Given the description of an element on the screen output the (x, y) to click on. 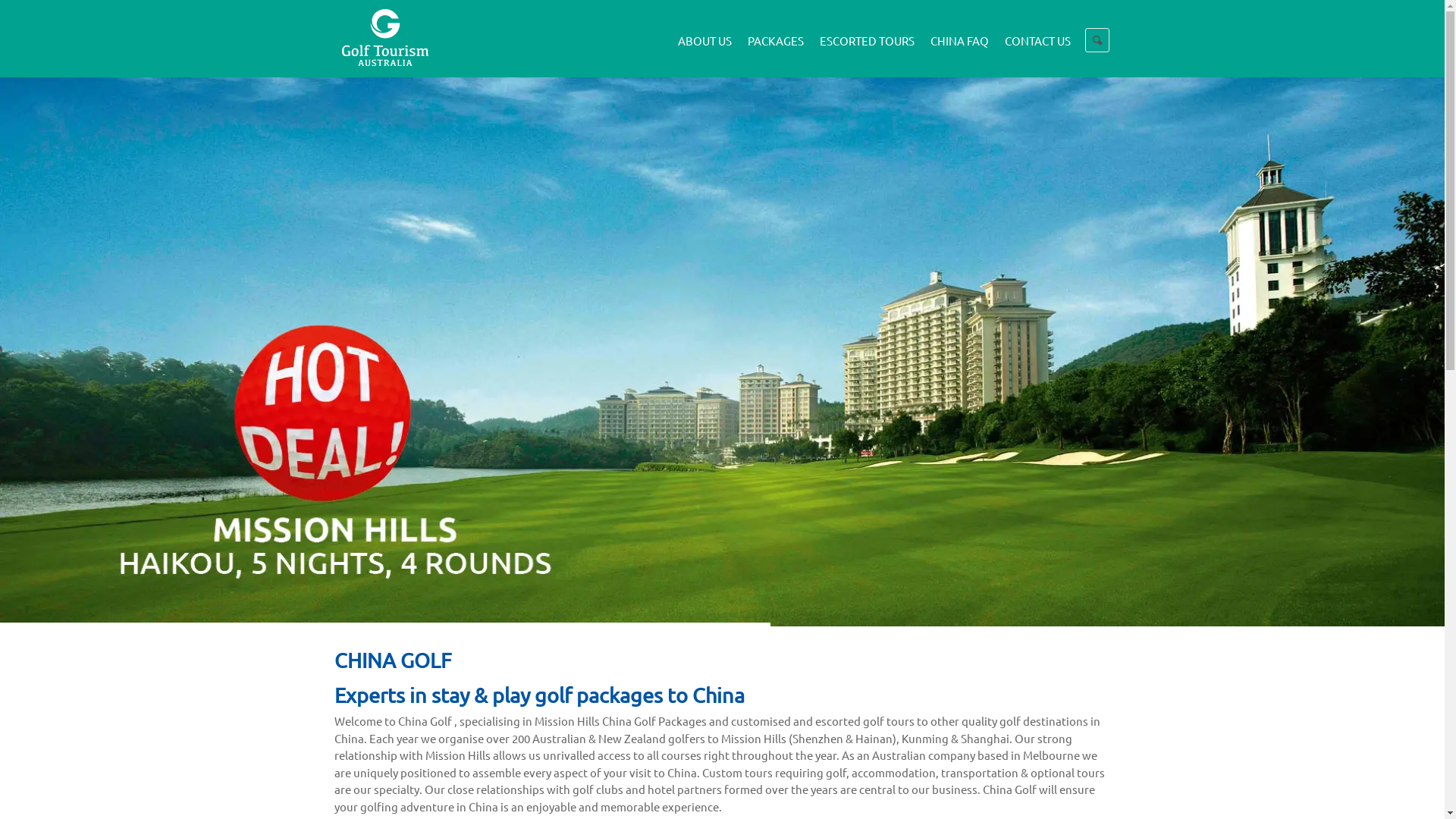
CHINA FAQ Element type: text (958, 33)
CONTACT US Element type: text (1037, 33)
ABOUT US Element type: text (704, 33)
PACKAGES Element type: text (775, 33)
ESCORTED TOURS Element type: text (866, 33)
